Given the description of an element on the screen output the (x, y) to click on. 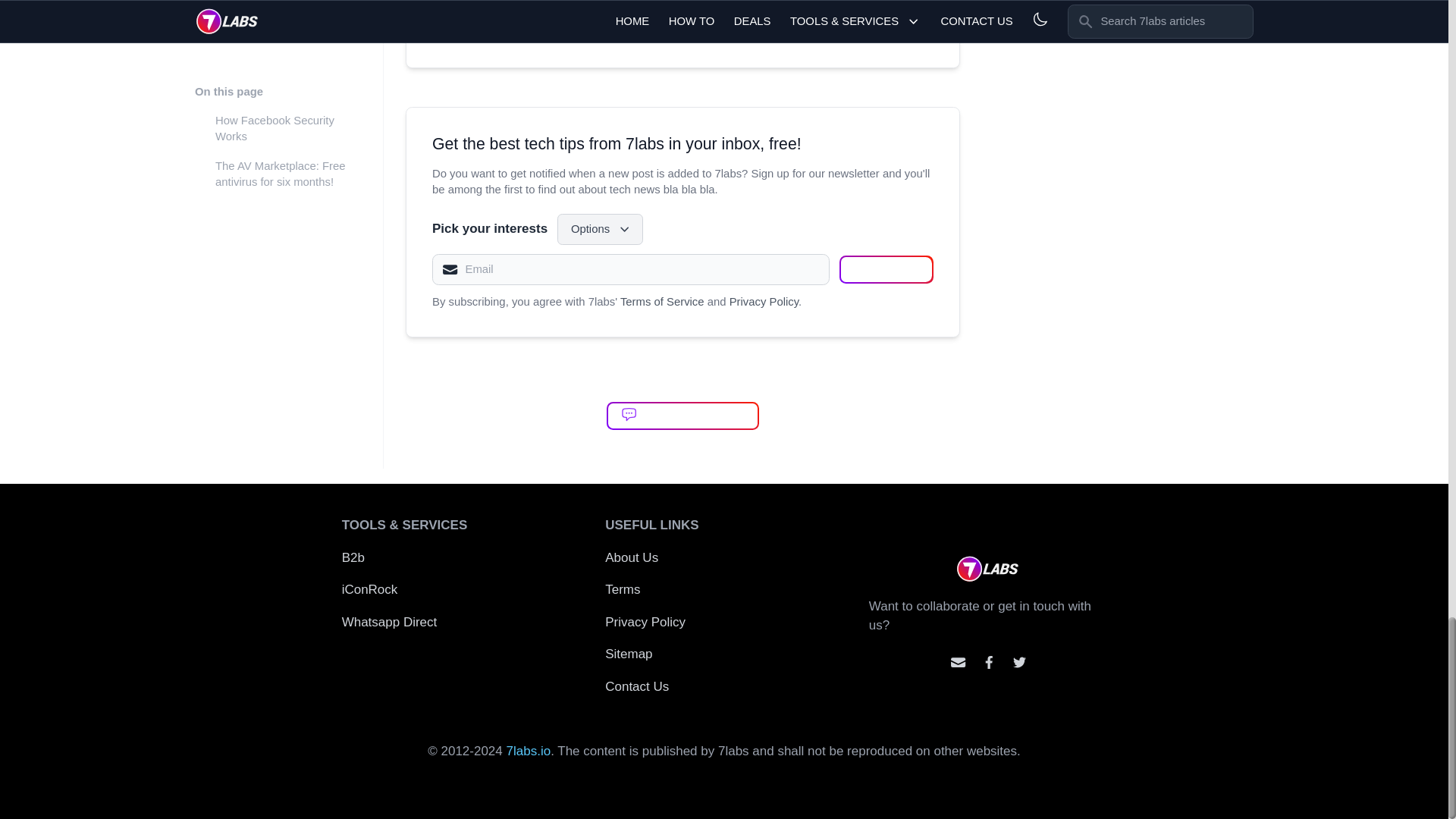
Terms of Service (662, 301)
SUBSCRIBE (886, 269)
Options (600, 228)
Privacy Policy (763, 301)
SHOW COMMENTS (682, 415)
